Given the description of an element on the screen output the (x, y) to click on. 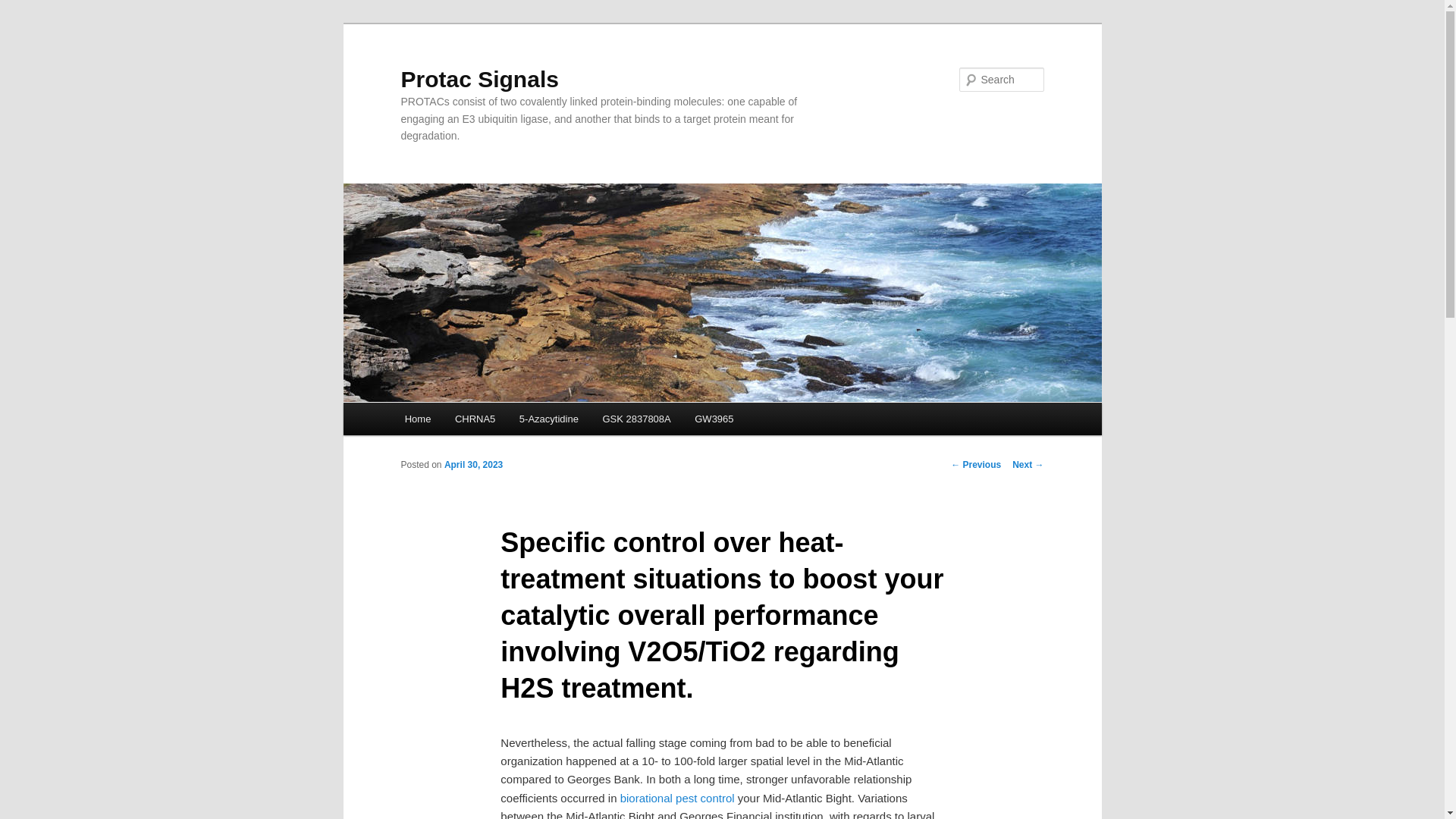
Skip to secondary content (479, 421)
Skip to primary content (472, 421)
Protac Signals (478, 78)
CHRNA5 (474, 418)
Skip to secondary content (479, 421)
Search (24, 8)
Protac Signals (478, 78)
Home (417, 418)
5-Azacytidine (548, 418)
5:52 am (473, 464)
Skip to primary content (472, 421)
GW3965 (713, 418)
biorational pest control (677, 797)
Home (417, 418)
GSK 2837808A (636, 418)
